Given the description of an element on the screen output the (x, y) to click on. 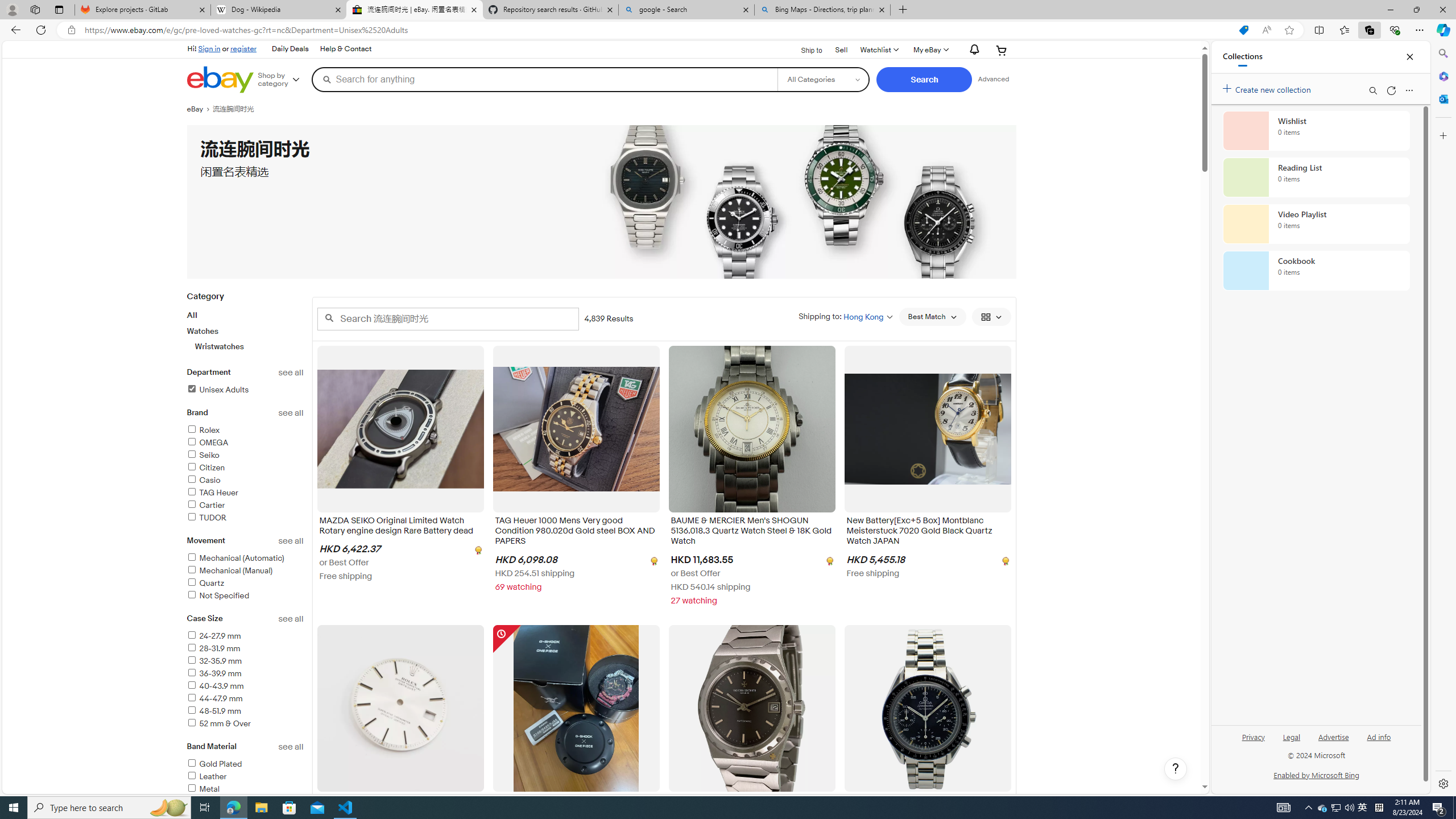
eBay Home (219, 79)
32-35.9 mm (245, 661)
48-51.9 mm (213, 710)
Wishlist collection, 0 items (1316, 130)
Wristwatches (249, 346)
Leather (245, 776)
View: Gallery View (991, 316)
Help & Contact (345, 49)
See all department refinements (291, 372)
